Given the description of an element on the screen output the (x, y) to click on. 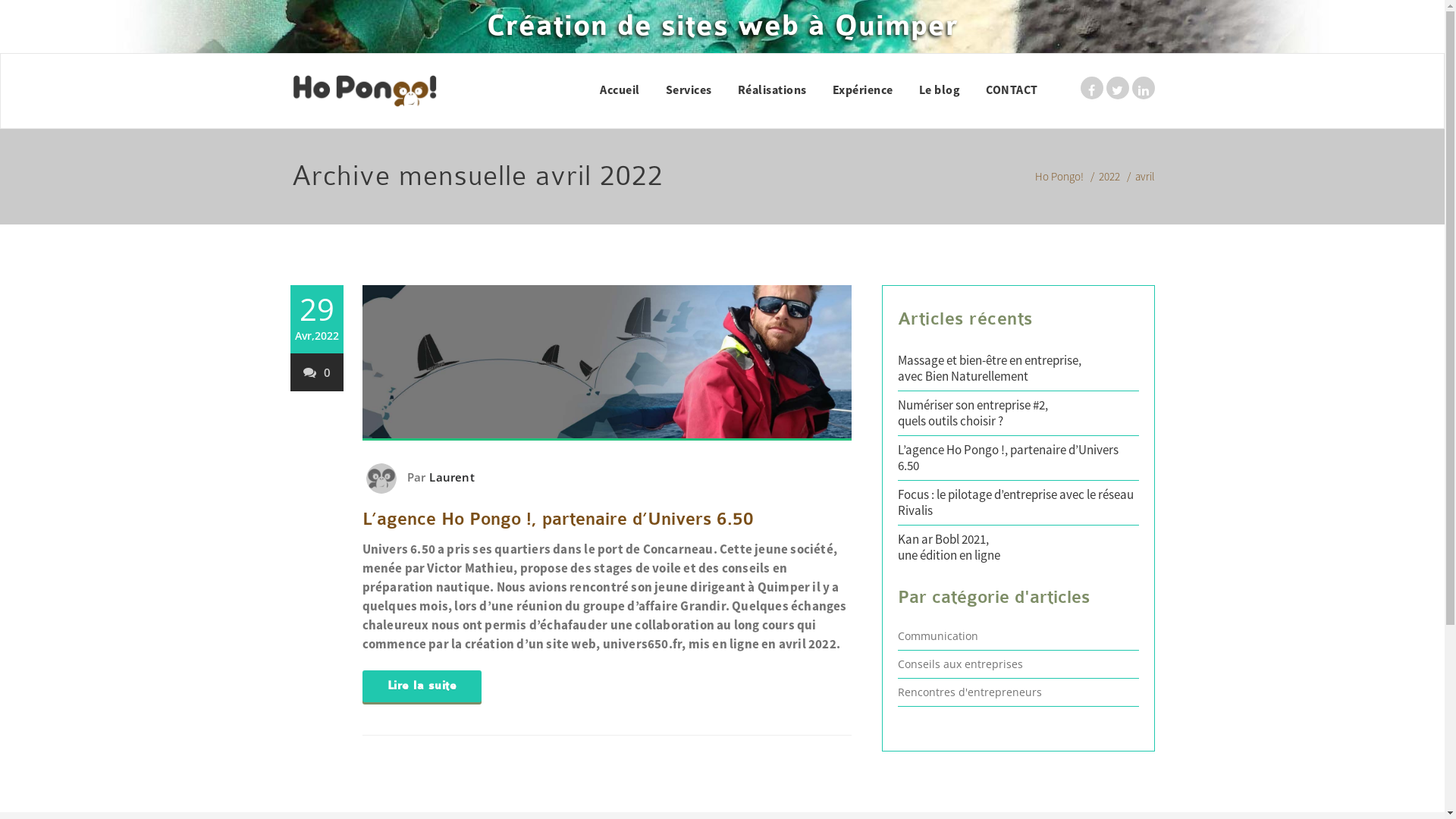
Rencontres d'entrepreneurs Element type: text (969, 691)
Services Element type: text (688, 89)
Lire la suite Element type: text (422, 686)
Accueil Element type: text (619, 89)
Le blog Element type: text (938, 89)
Laurent Element type: text (449, 476)
Communication Element type: text (937, 635)
CONTACT Element type: text (1011, 89)
Conseils aux entreprises Element type: text (959, 663)
Ho Pongo! Element type: text (1058, 176)
0 Element type: text (316, 371)
2022 Element type: text (1108, 176)
